Given the description of an element on the screen output the (x, y) to click on. 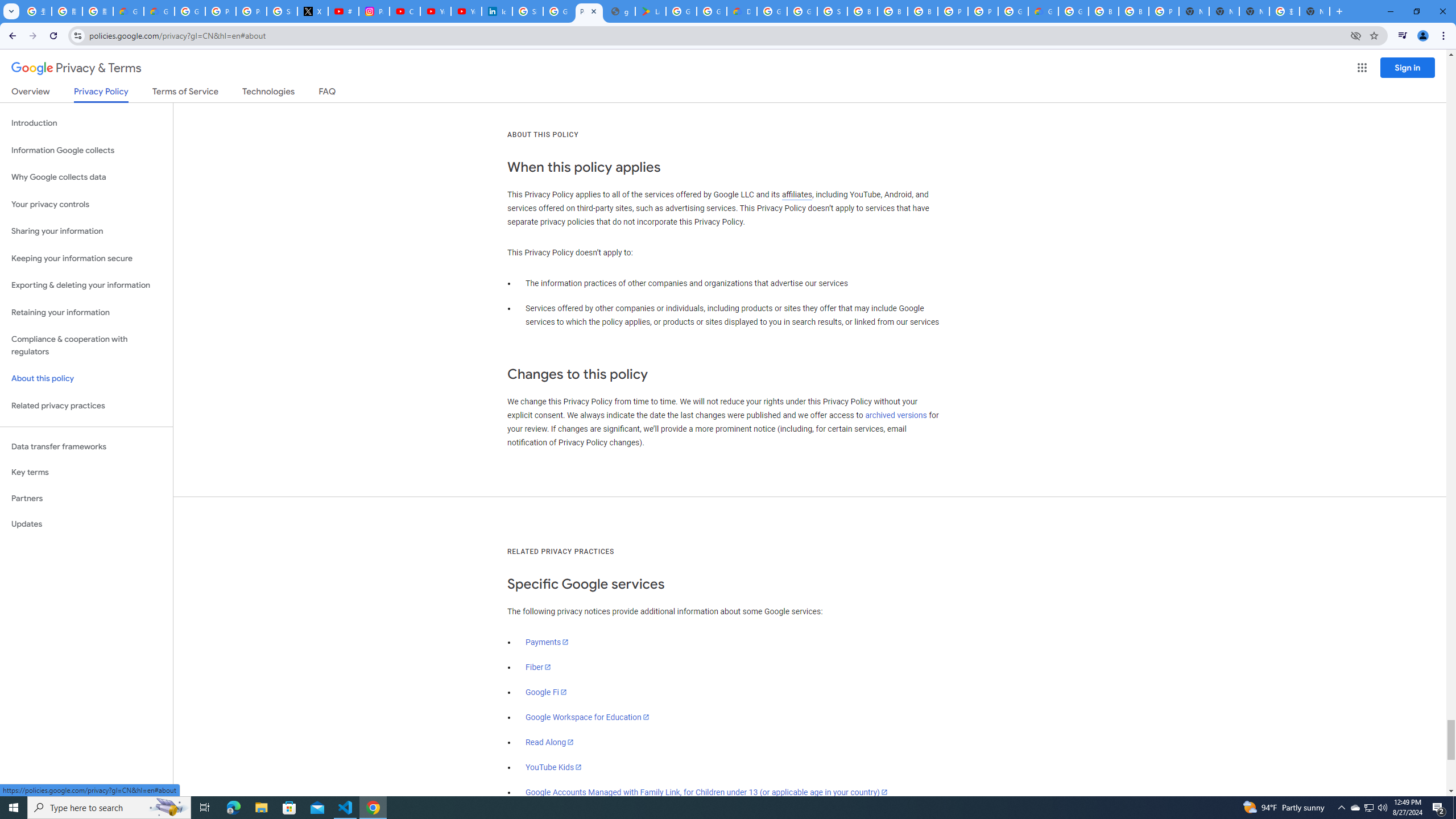
Google Cloud Platform (771, 11)
New Tab (1193, 11)
New Tab (1314, 11)
Google Cloud Privacy Notice (158, 11)
Payments (547, 642)
Privacy Help Center - Policies Help (251, 11)
Browse Chrome as a guest - Computer - Google Chrome Help (862, 11)
